Given the description of an element on the screen output the (x, y) to click on. 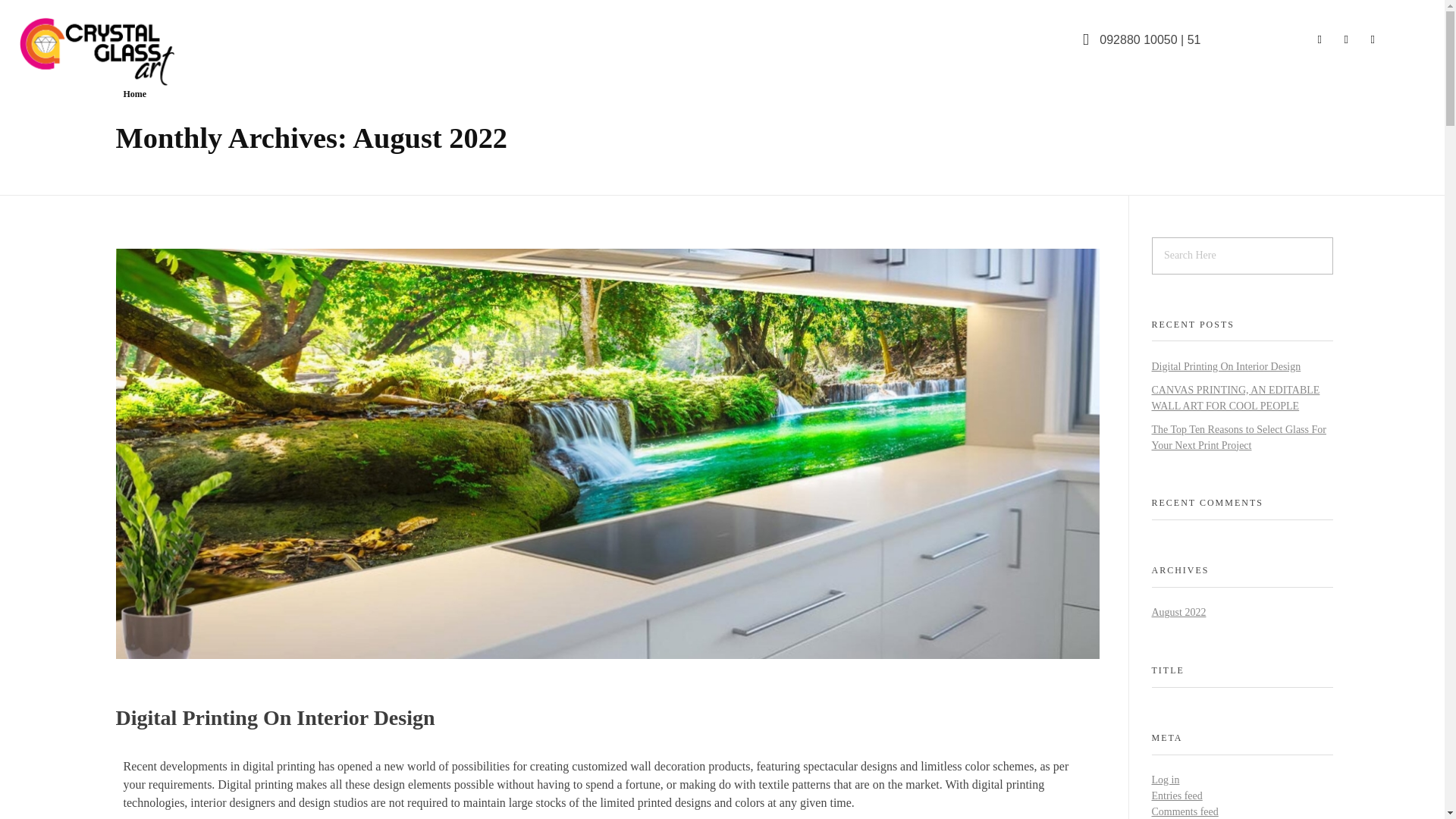
Home (134, 93)
Crystal glass art (121, 50)
Crystal glass art (83, 97)
Home (134, 93)
Digital Printing On Interior Design (274, 717)
Crystal glass art (83, 97)
